Given the description of an element on the screen output the (x, y) to click on. 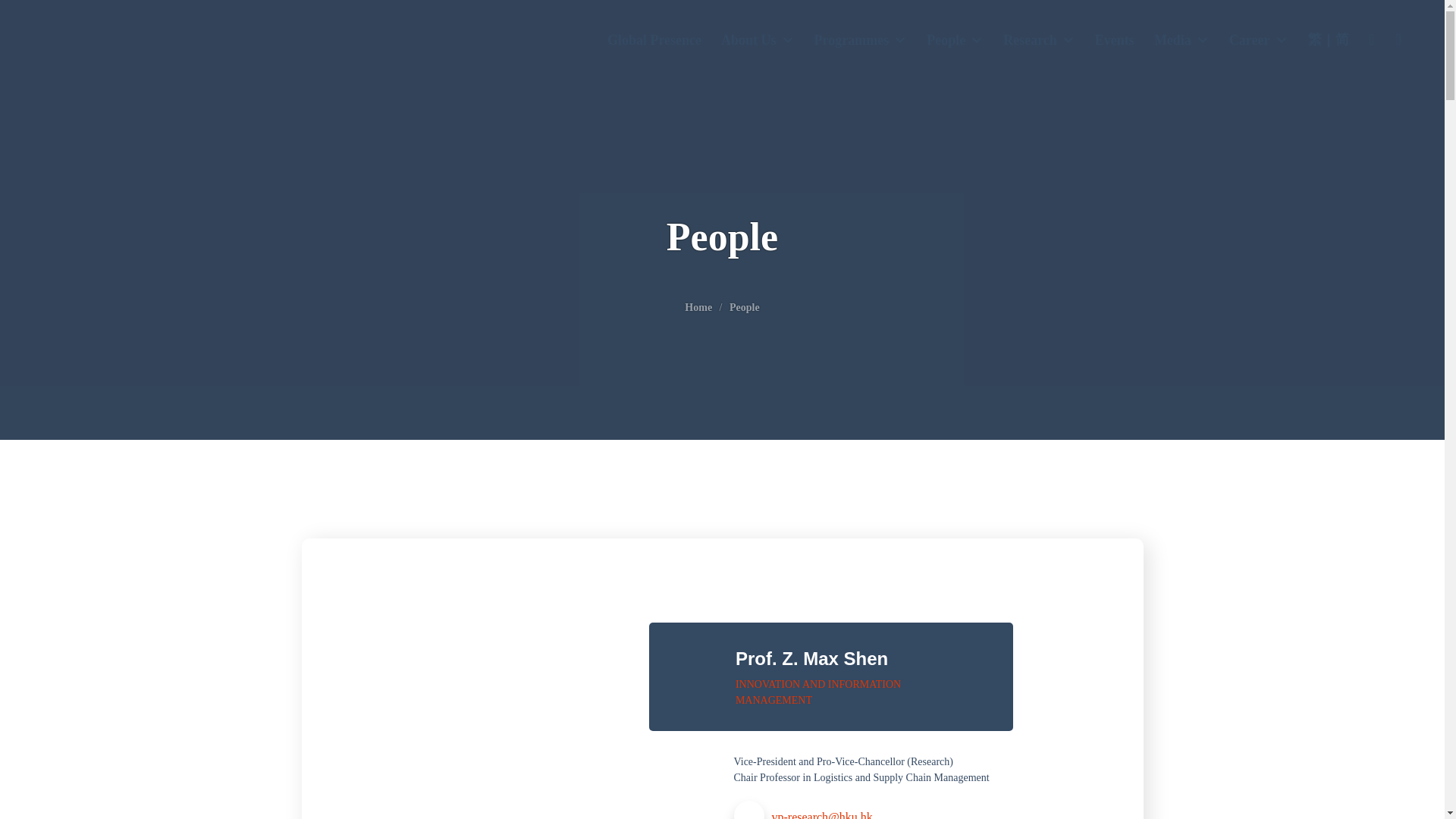
Global Presence (653, 41)
People (954, 41)
About Us (758, 41)
Programmes (861, 41)
